Given the description of an element on the screen output the (x, y) to click on. 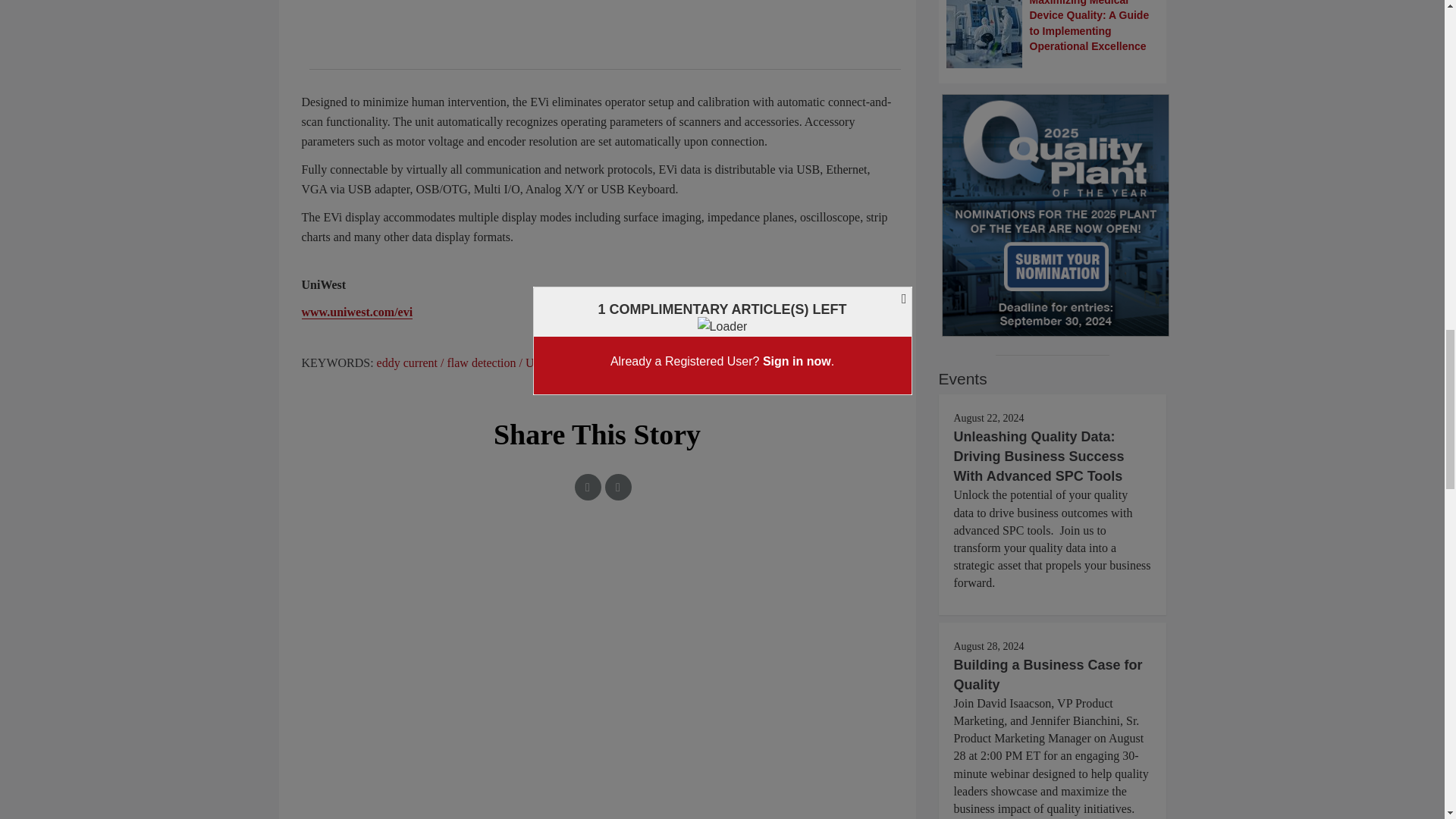
Interaction questions (597, 605)
Building a Business Case for Quality (1047, 674)
